Given the description of an element on the screen output the (x, y) to click on. 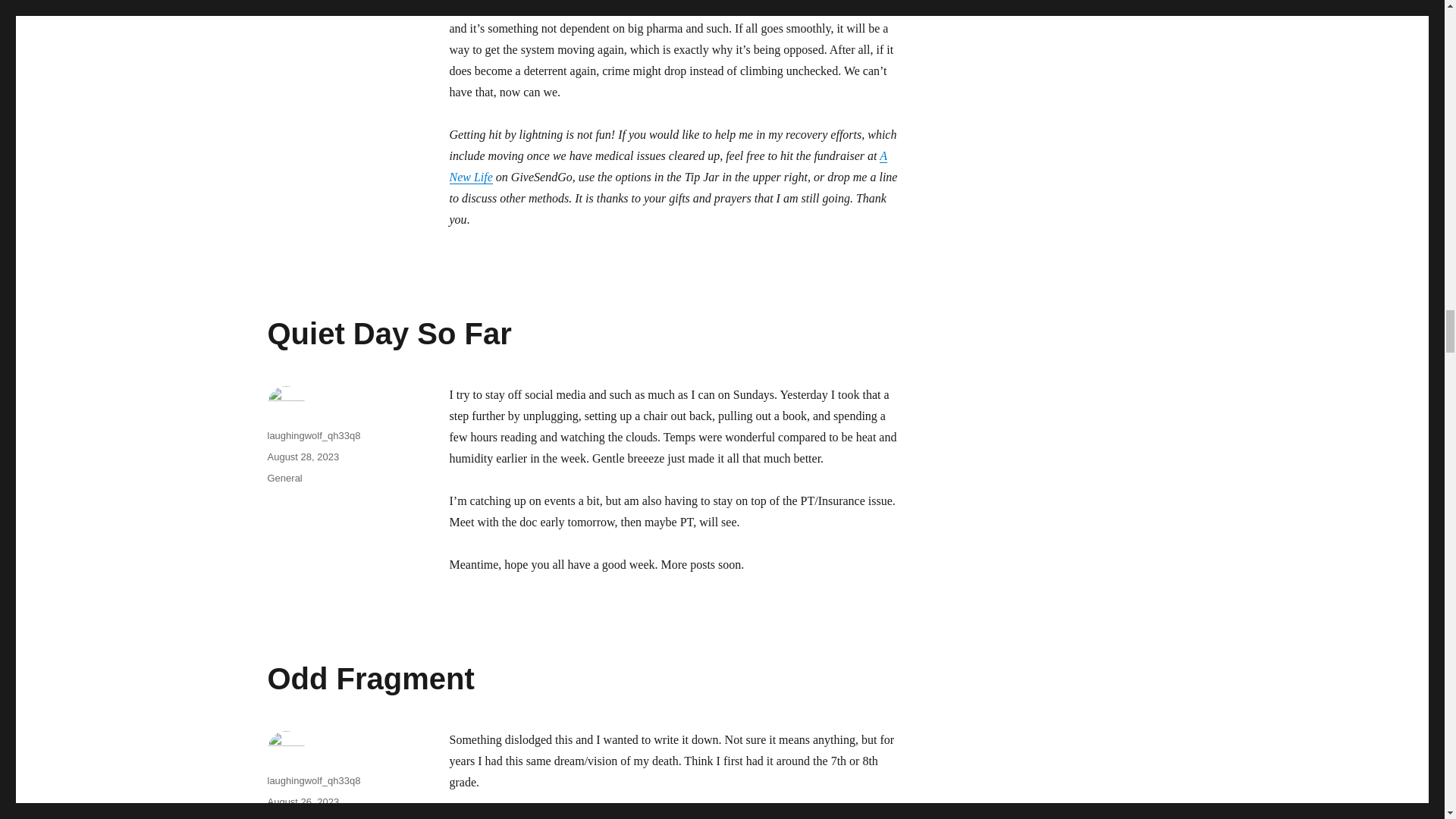
General (283, 478)
A New Life (667, 166)
Odd Fragment (370, 678)
Quiet Day So Far (388, 333)
August 28, 2023 (302, 456)
